Given the description of an element on the screen output the (x, y) to click on. 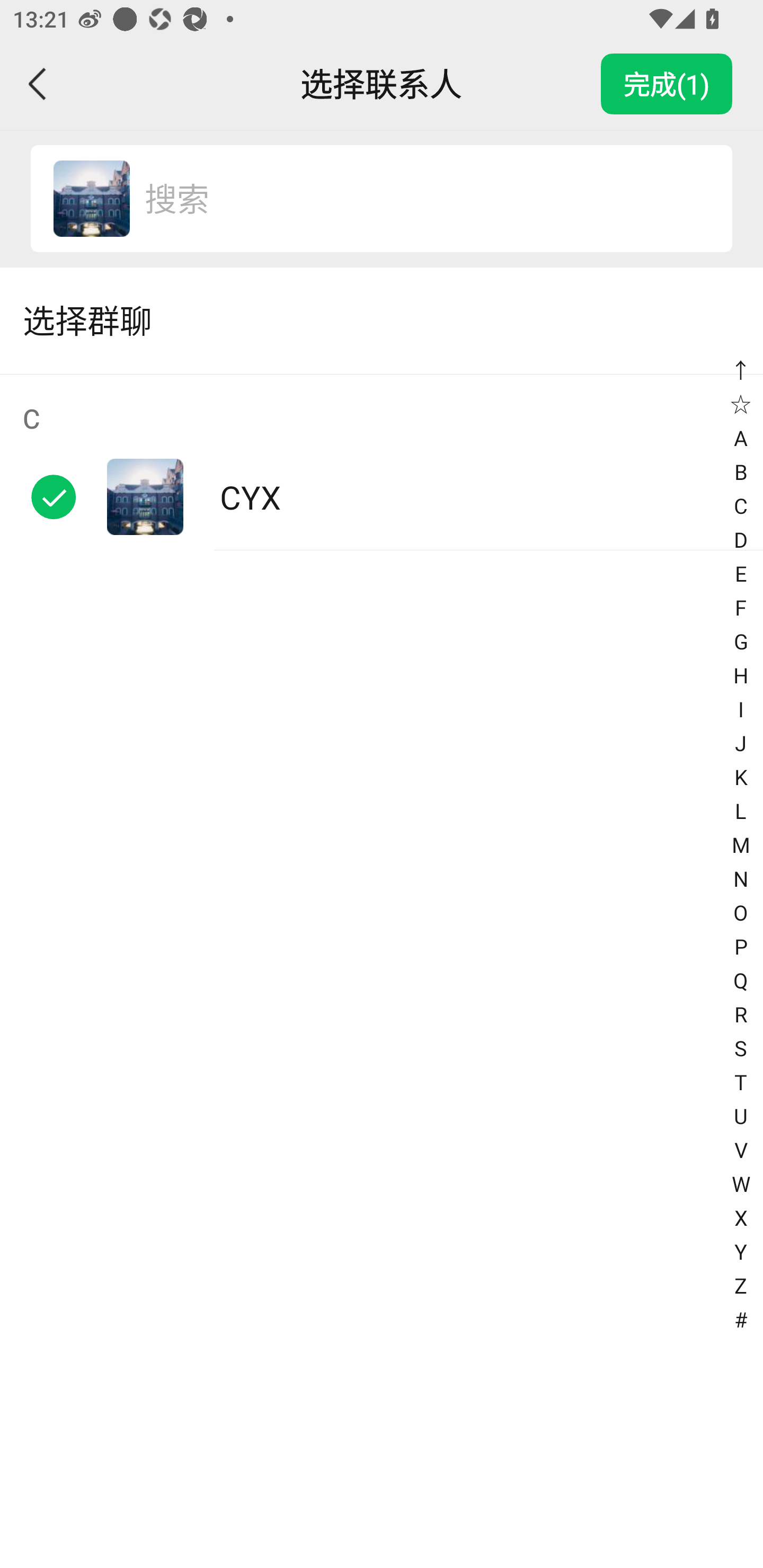
返回 (38, 83)
完成(1) (666, 83)
CYX (91, 198)
搜索 (418, 198)
选择群聊 (381, 320)
C CYX (381, 462)
